Given the description of an element on the screen output the (x, y) to click on. 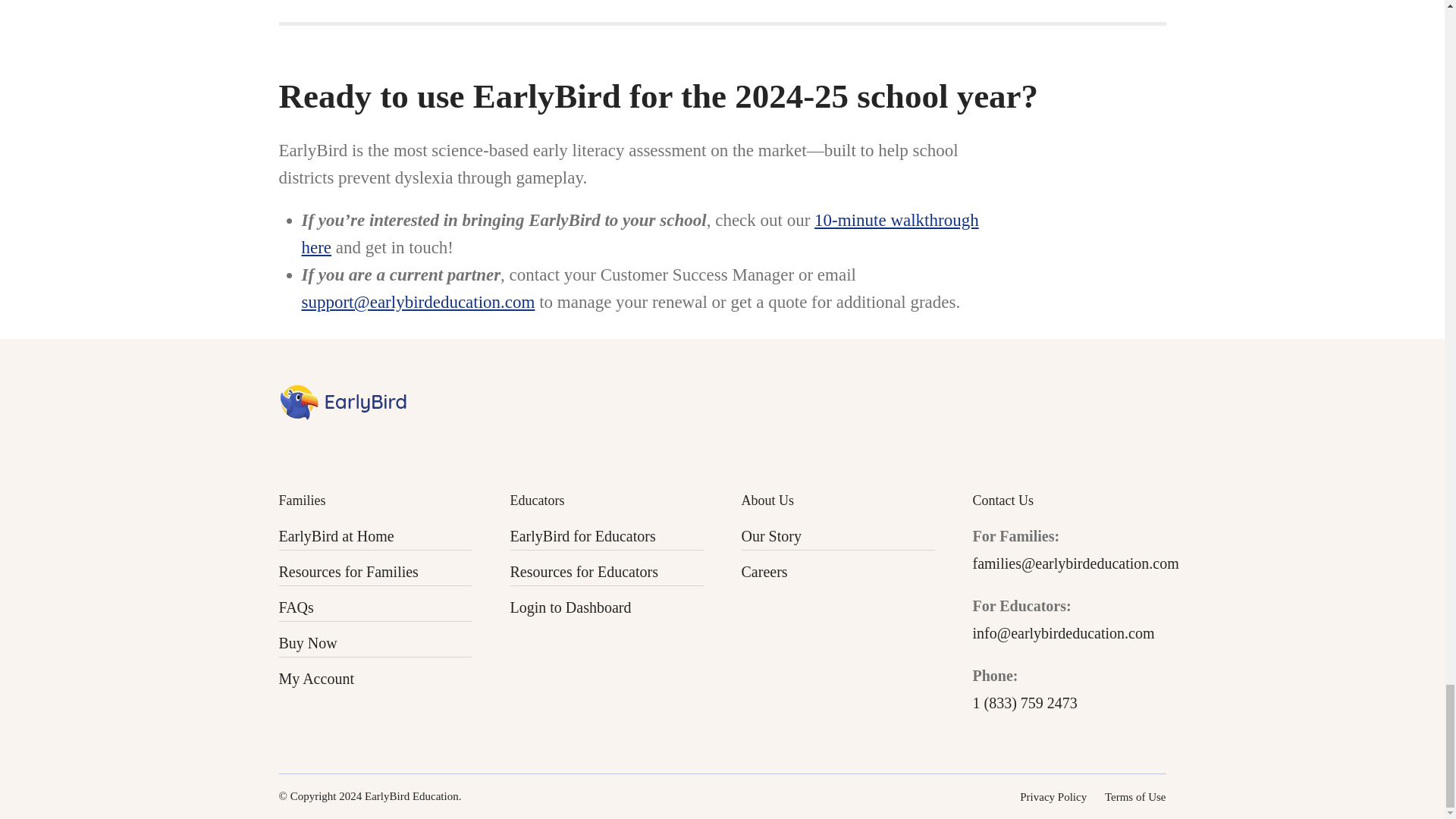
Facebook page opens in new window (318, 447)
Twitter page opens in new window (347, 447)
Instagram page opens in new window (290, 447)
Pinterest page opens in new window (376, 447)
